Given the description of an element on the screen output the (x, y) to click on. 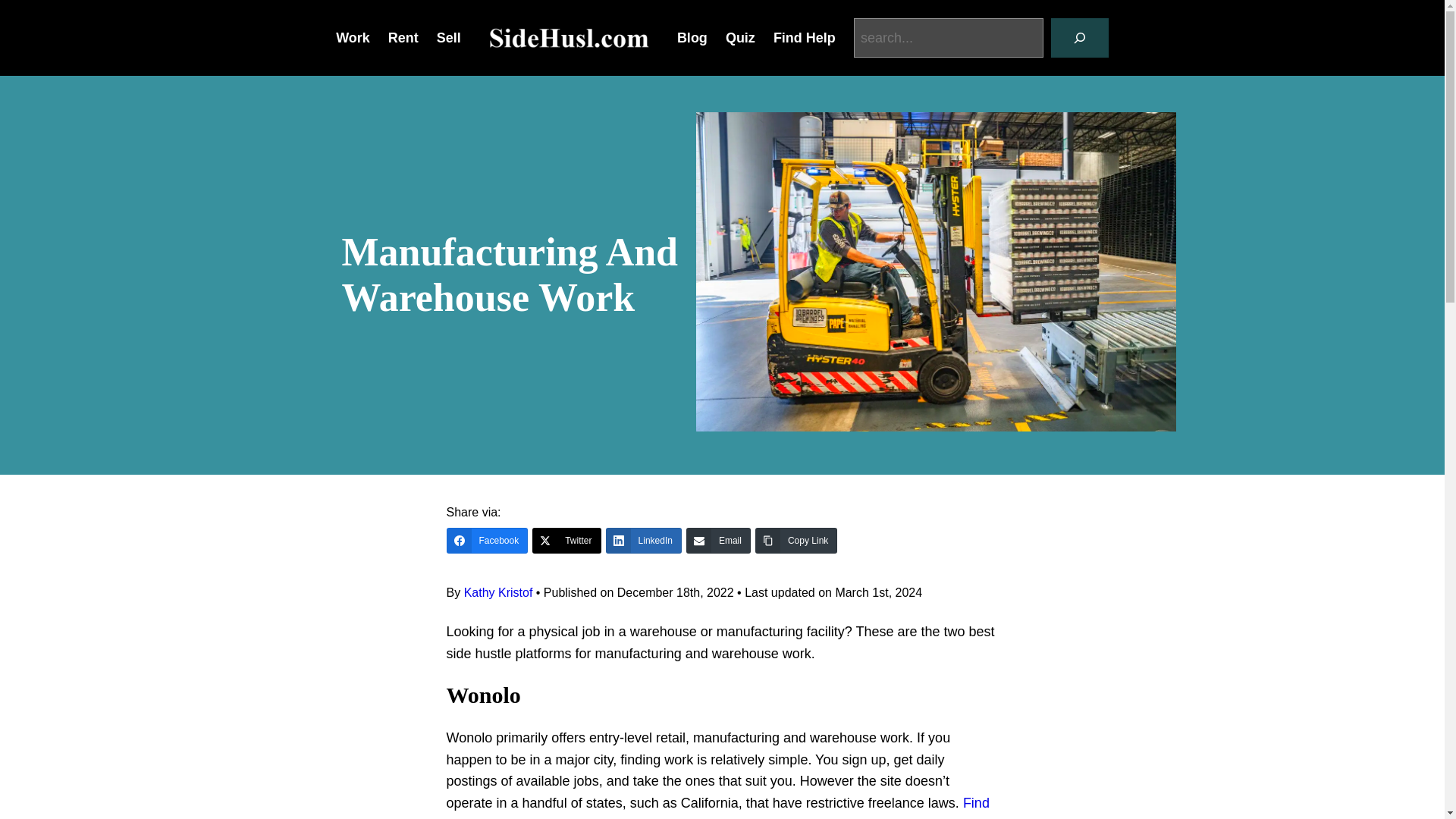
Twitter (565, 540)
Facebook (486, 540)
Quiz (740, 38)
Rent (403, 38)
LinkedIn (643, 540)
Copy Link (796, 540)
Email (718, 540)
Work (352, 38)
Find out more about Wonolo here. (716, 807)
Find Help (804, 38)
